Given the description of an element on the screen output the (x, y) to click on. 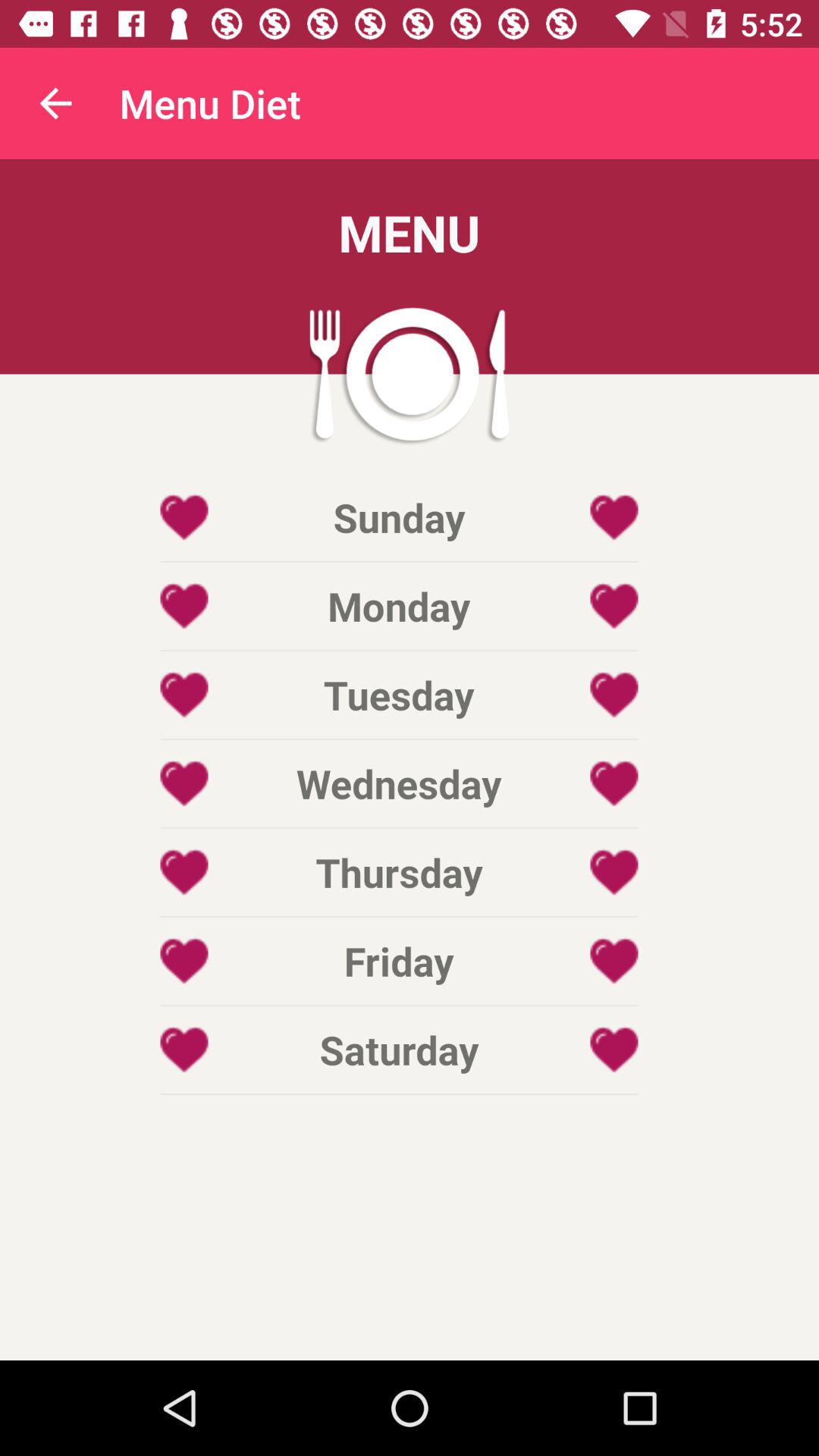
turn off icon above saturday (398, 960)
